Given the description of an element on the screen output the (x, y) to click on. 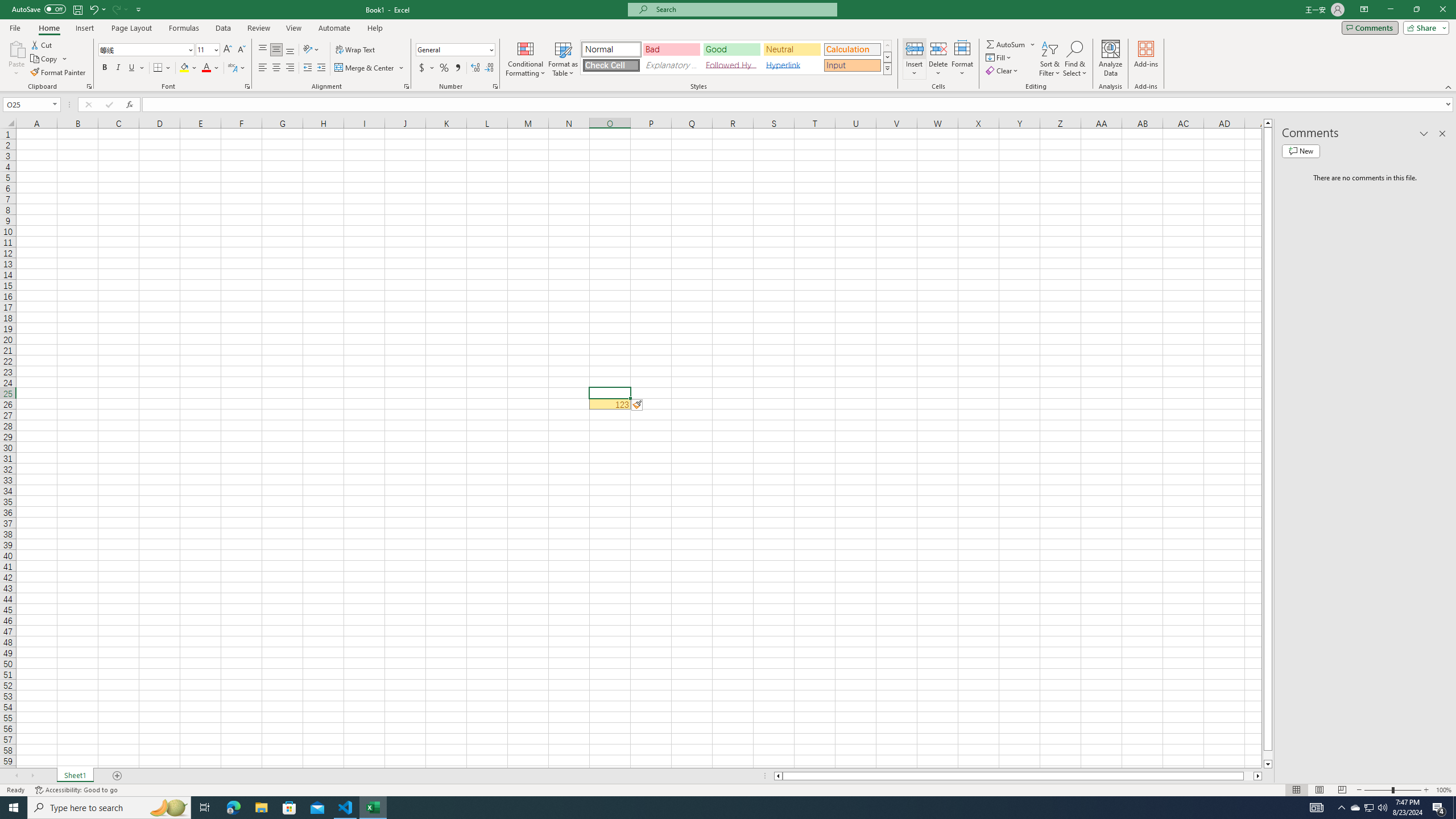
Calculation (852, 49)
Scroll Right (32, 775)
Show Phonetic Field (231, 67)
Page right (1248, 775)
Fill (999, 56)
Underline (131, 67)
Insert (83, 28)
AutomationID: CellStylesGallery (736, 57)
Borders (162, 67)
Orientation (311, 49)
Page down (1267, 755)
Delete (938, 58)
